Given the description of an element on the screen output the (x, y) to click on. 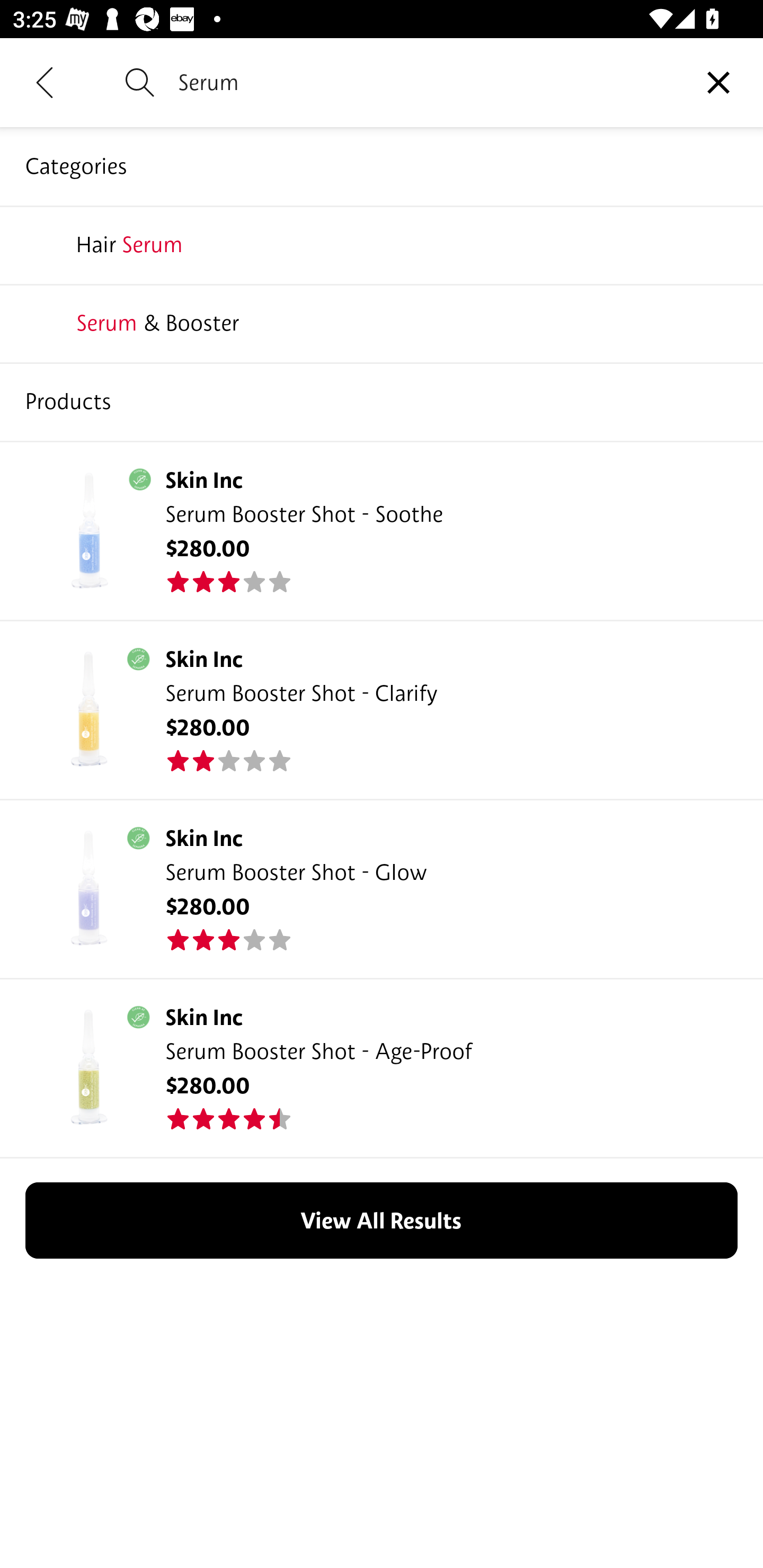
Navigate up (44, 82)
Clear query (718, 81)
Serum (425, 82)
supergoop! (381, 244)
the ordinary (381, 322)
rare beauty (381, 401)
View All Results (381, 1220)
